Given the description of an element on the screen output the (x, y) to click on. 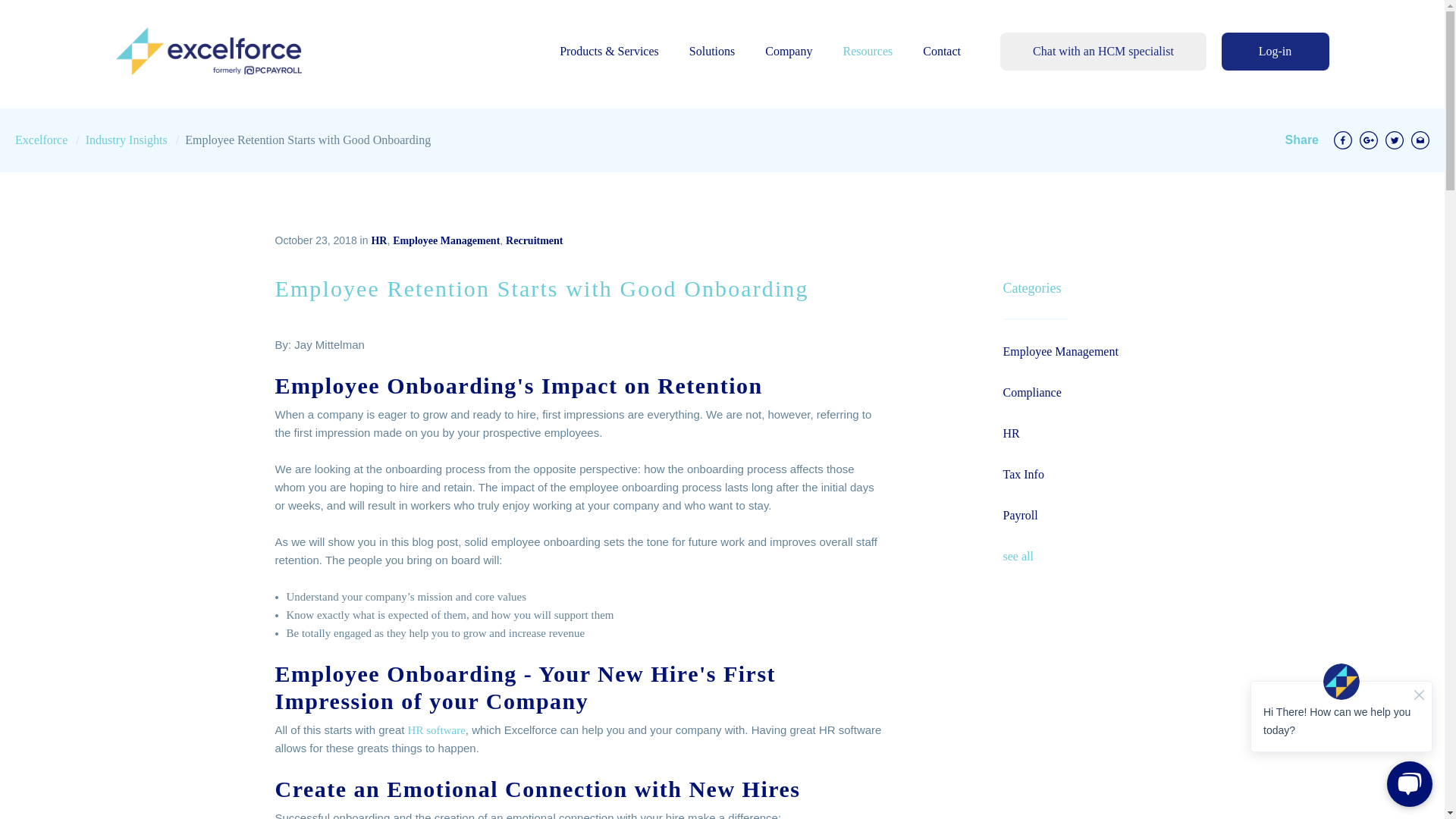
Contact (941, 51)
Excelforce (208, 51)
Chat with an HCM specialist (1103, 51)
Log-in (1274, 51)
Go to Insights. (126, 139)
Go to Excelforce. (40, 139)
Resources (867, 51)
Chat with an HCM specialist (1103, 51)
Company (788, 51)
Solutions (711, 51)
